Given the description of an element on the screen output the (x, y) to click on. 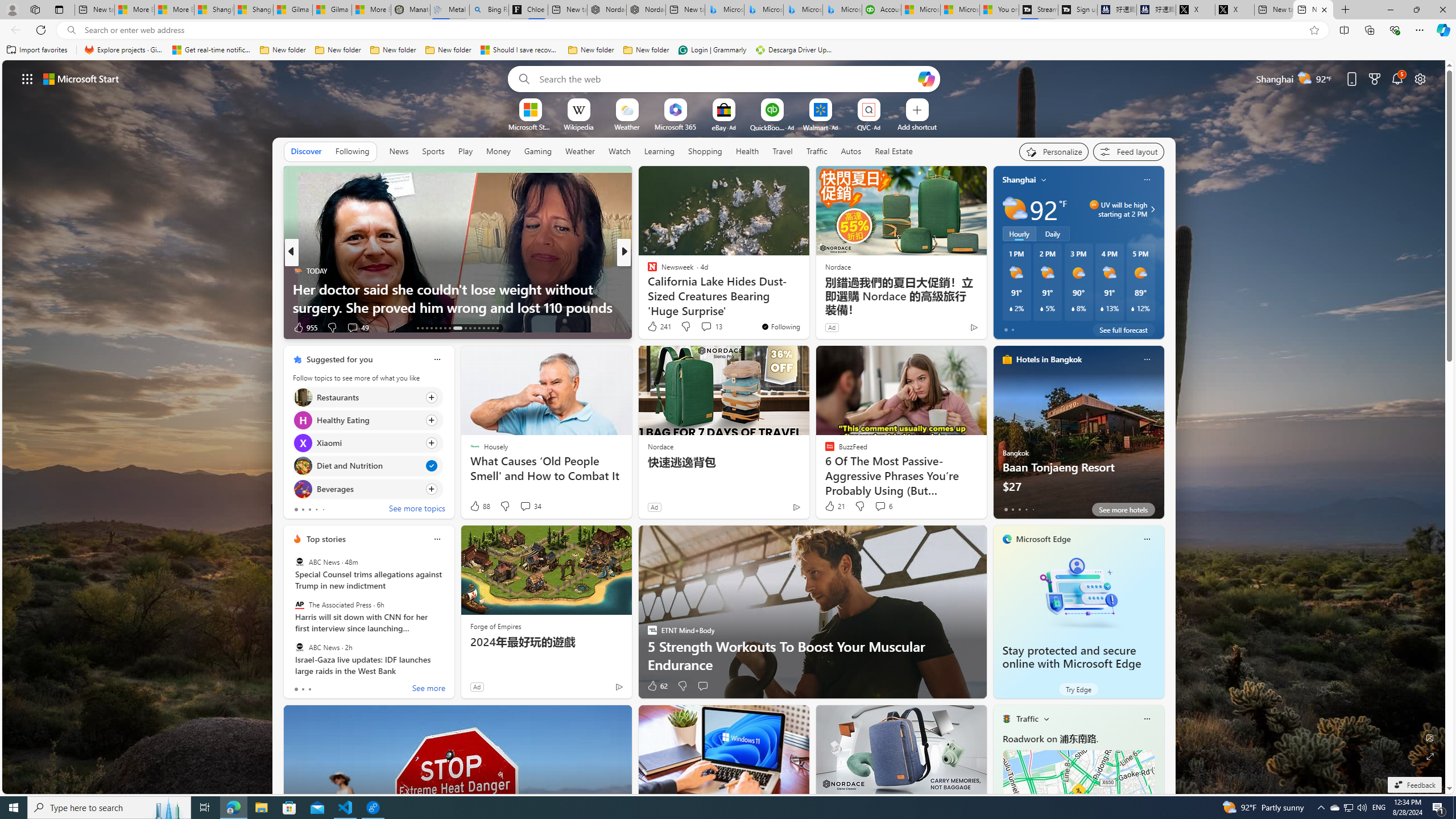
View comments 22 Comment (703, 327)
Baan Tonjaeng Resort (1078, 436)
Change scenarios (1045, 718)
Stay protected and secure online with Microsoft Edge (1071, 657)
Stay protected and secure online with Microsoft Edge (1077, 592)
Should I save recovered Word documents? - Microsoft Support (519, 49)
AutomationID: tab-29 (497, 328)
UV will be high starting at 2 PM (1150, 208)
5 Best Lifting Workouts for Men To Build a Chiseled Body (807, 298)
Class: weather-arrow-glyph (1152, 208)
Gaming (537, 151)
tab-2 (309, 689)
